Given the description of an element on the screen output the (x, y) to click on. 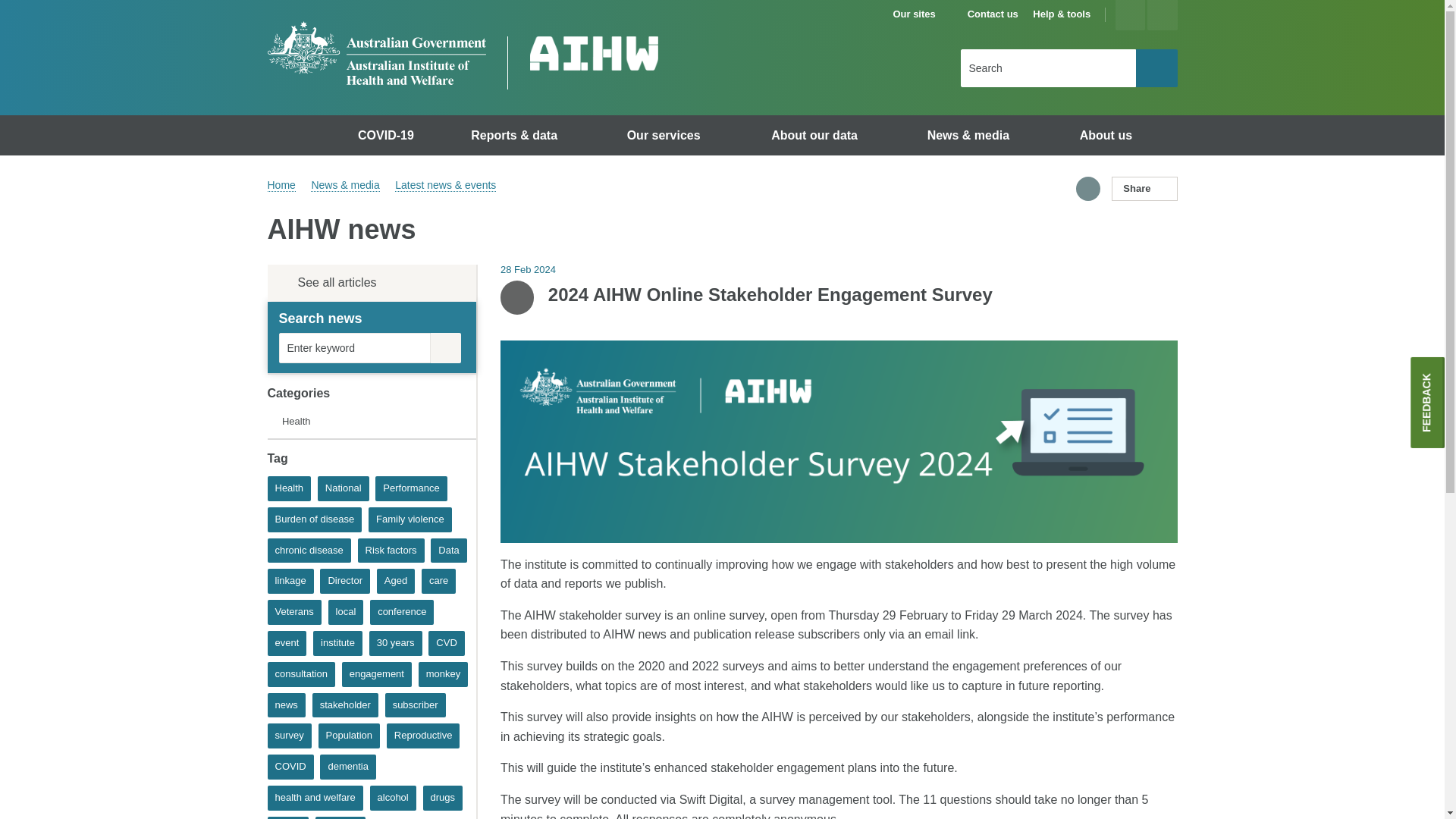
Increase text size (1130, 15)
Search (1156, 67)
COVID-19 (388, 135)
Contact us (992, 14)
Decrease text size (1162, 15)
Australian Institute of Health and Welfare (375, 53)
Our sites (921, 14)
